Given the description of an element on the screen output the (x, y) to click on. 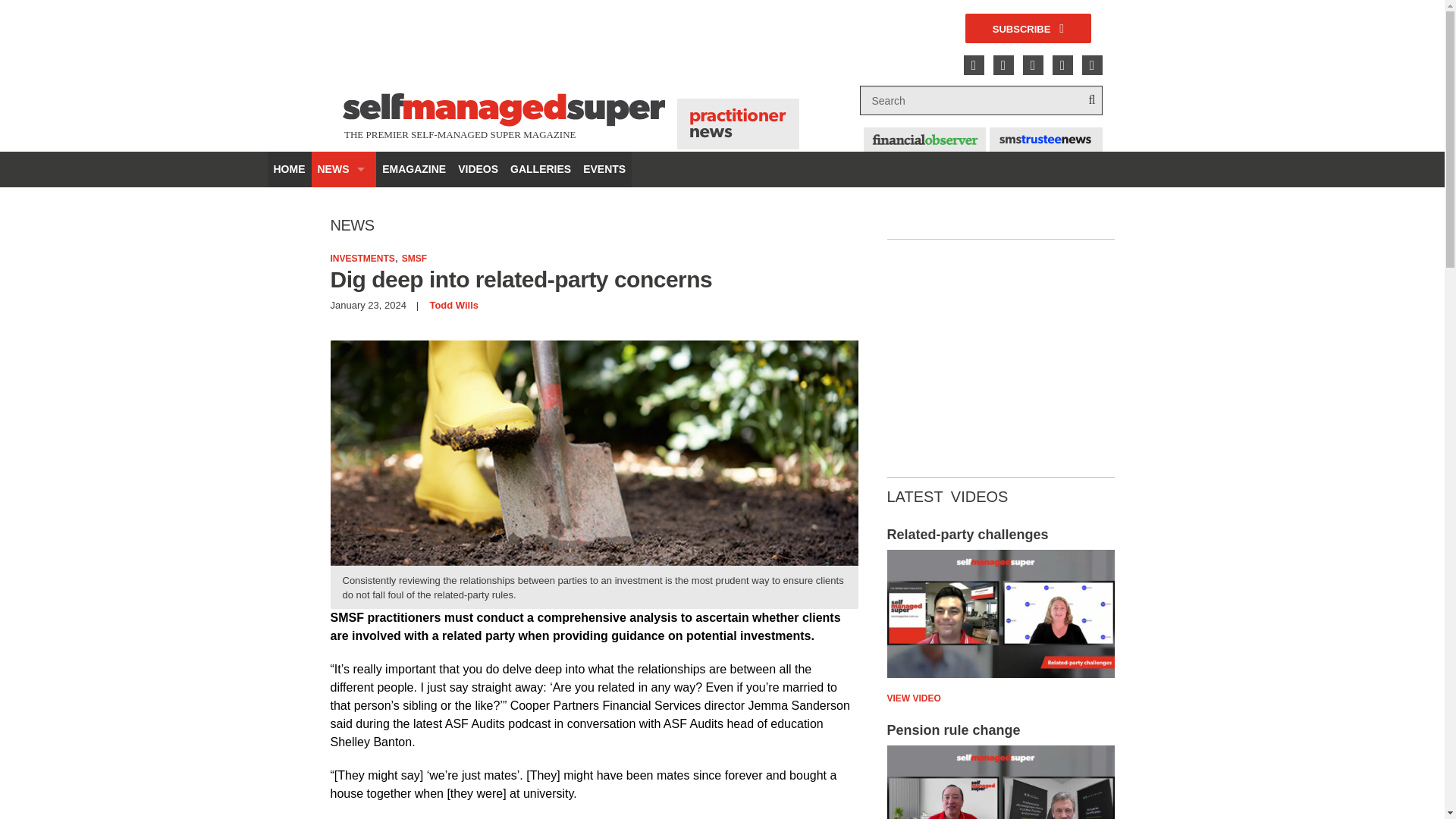
SMSF (413, 258)
ACCOUNTING (343, 204)
Financial Observer (924, 139)
SMS Trustee News (1000, 614)
SUPERANNUATION (1046, 139)
SUBSCRIBE (343, 418)
GALLERIES (1027, 28)
NEWS (539, 169)
EVENTS (343, 169)
